Given the description of an element on the screen output the (x, y) to click on. 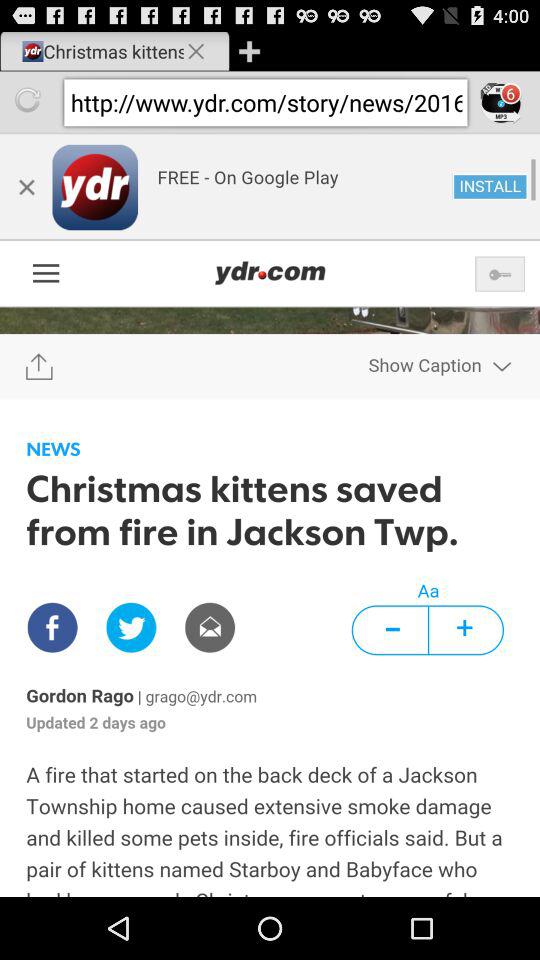
add tab (249, 50)
